Given the description of an element on the screen output the (x, y) to click on. 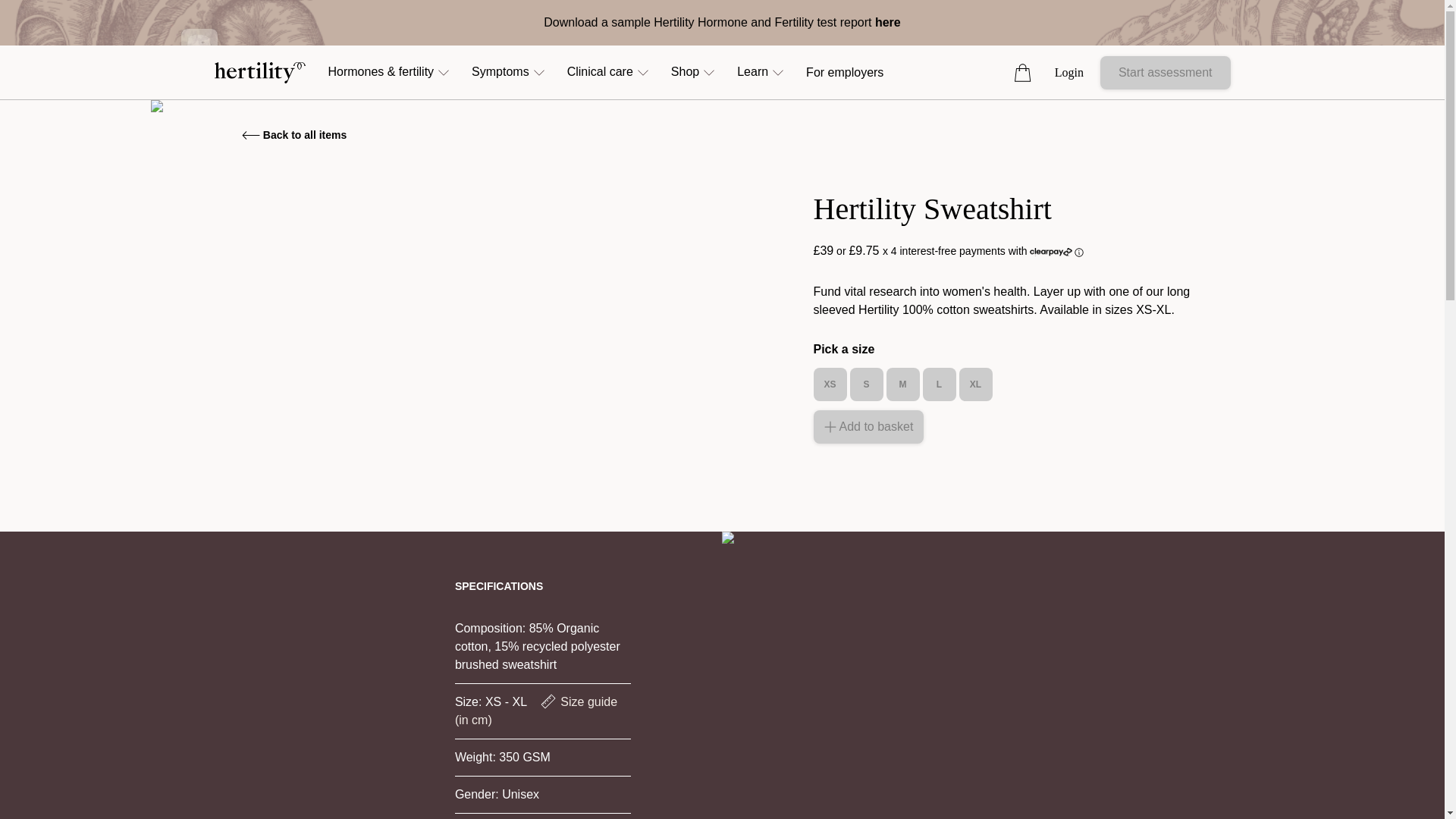
M (901, 384)
S (865, 384)
Add to basket (867, 426)
Start assessment (1165, 72)
For employers (844, 72)
XL (974, 384)
Back to all items (294, 135)
here (888, 21)
XS (828, 384)
Login (1068, 72)
